Given the description of an element on the screen output the (x, y) to click on. 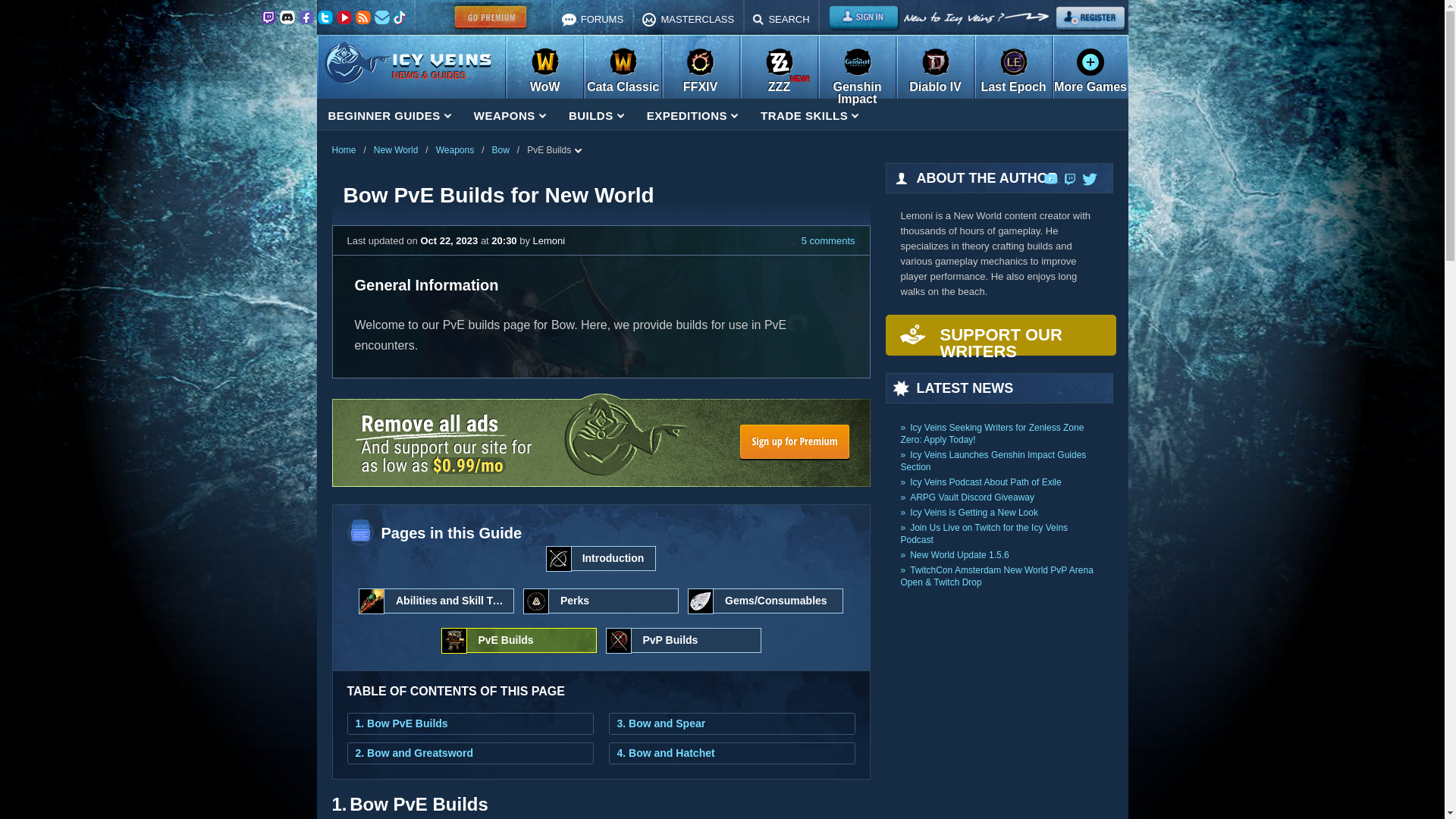
FORUMS (592, 16)
Icy Veins - Final Fantasy XIV guides (699, 69)
Icy Veins - Genshin Impact guides (857, 69)
Icy Veins - Cataclysm Classic guides (622, 69)
FFXIV (699, 69)
TRADE SKILLS (809, 115)
EXPEDITIONS (692, 115)
Icy Veins - Zenless zone Zero guides (777, 69)
WoW (544, 69)
Icy Veins - Diablo IV guides (935, 69)
WEAPONS (510, 115)
Genshin Impact (857, 69)
Last Epoch (1013, 69)
Icy Veins - World of Warcraft guides (544, 69)
Cata Classic (622, 69)
